Given the description of an element on the screen output the (x, y) to click on. 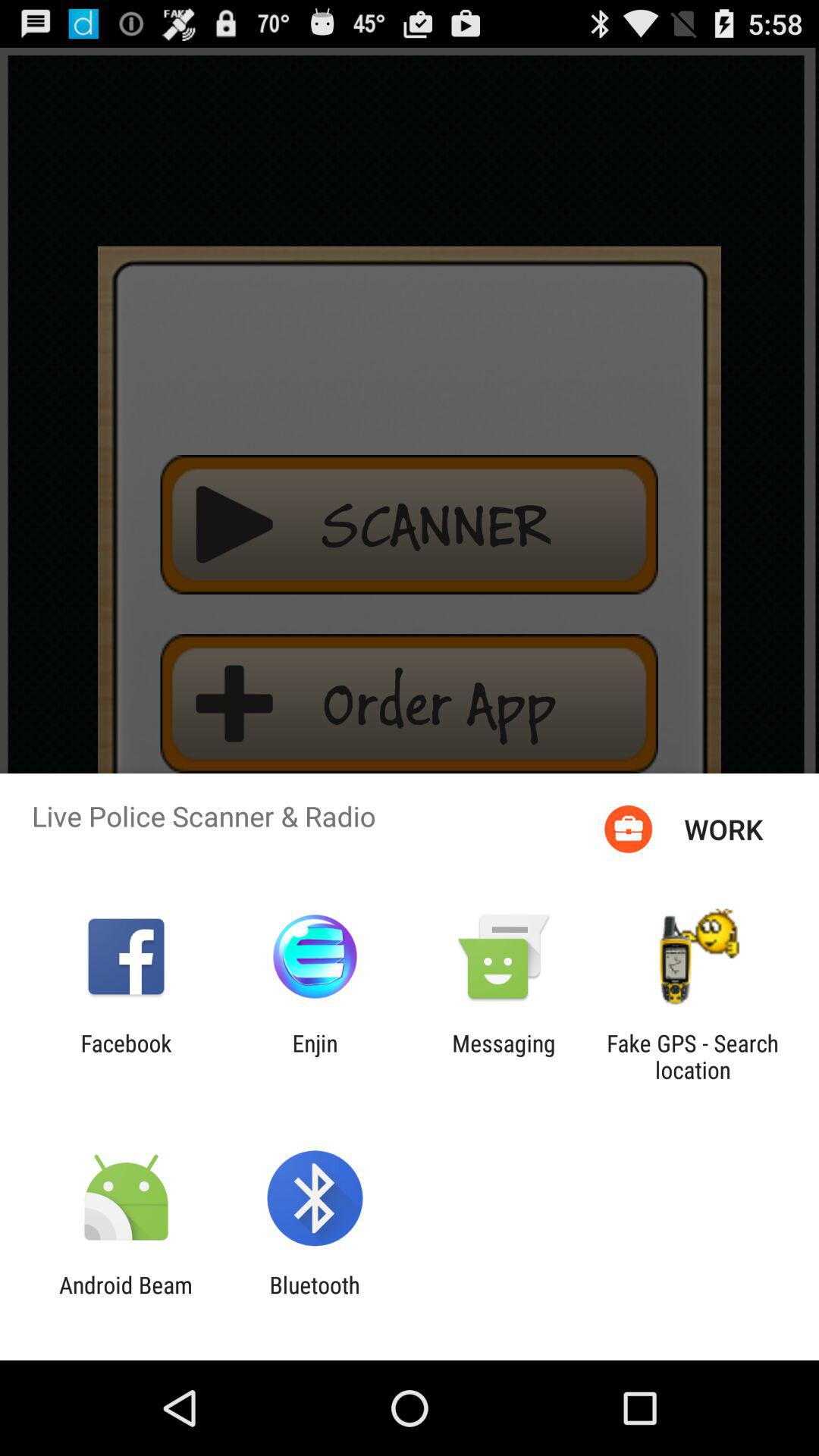
choose facebook item (125, 1056)
